Given the description of an element on the screen output the (x, y) to click on. 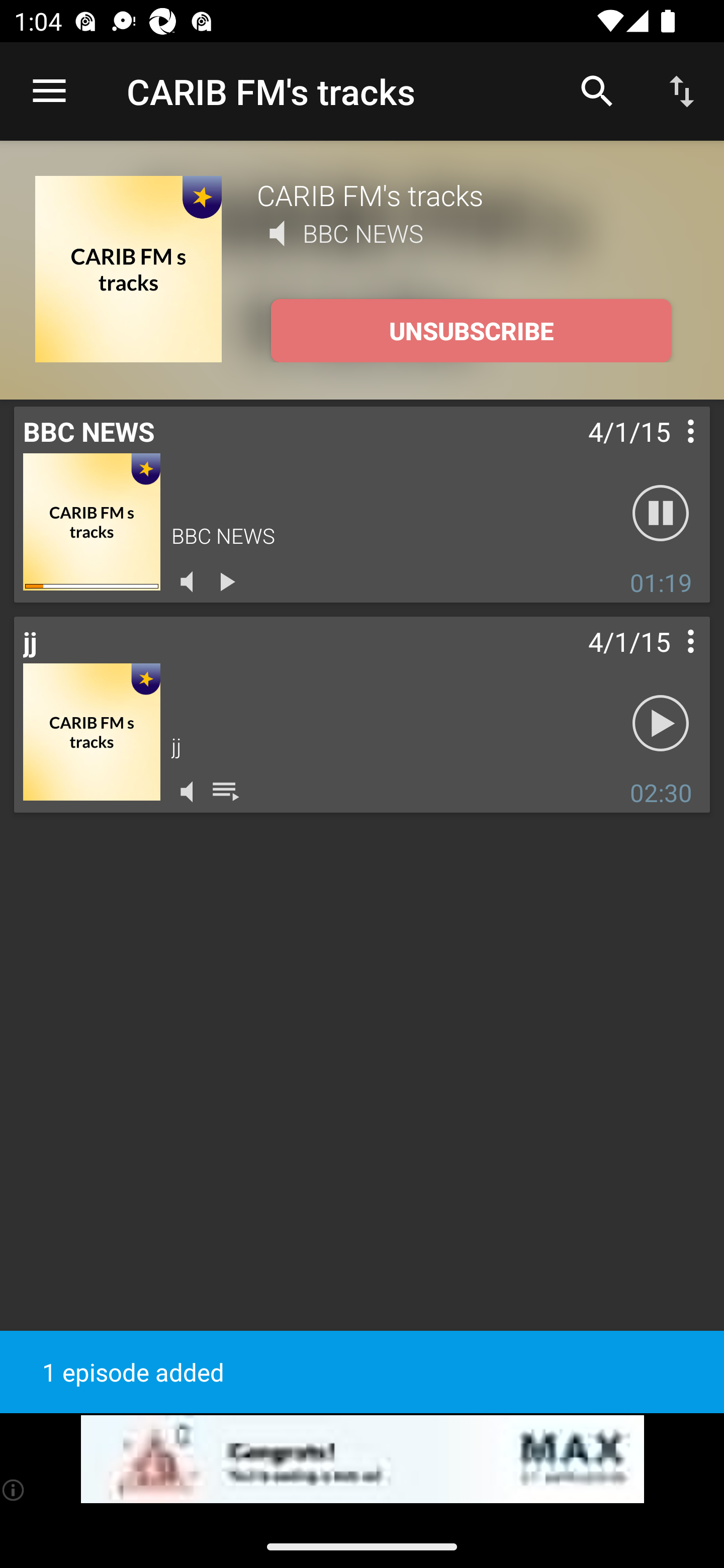
Open navigation sidebar (49, 91)
Search (597, 90)
Sort (681, 90)
UNSUBSCRIBE (470, 330)
Contextual menu (668, 451)
Pause (660, 513)
jj 4/1/15 Artwork jj Play 02:30 Contextual menu (362, 714)
Contextual menu (668, 661)
Play (660, 723)
app-monetization (362, 1459)
(i) (14, 1489)
